Given the description of an element on the screen output the (x, y) to click on. 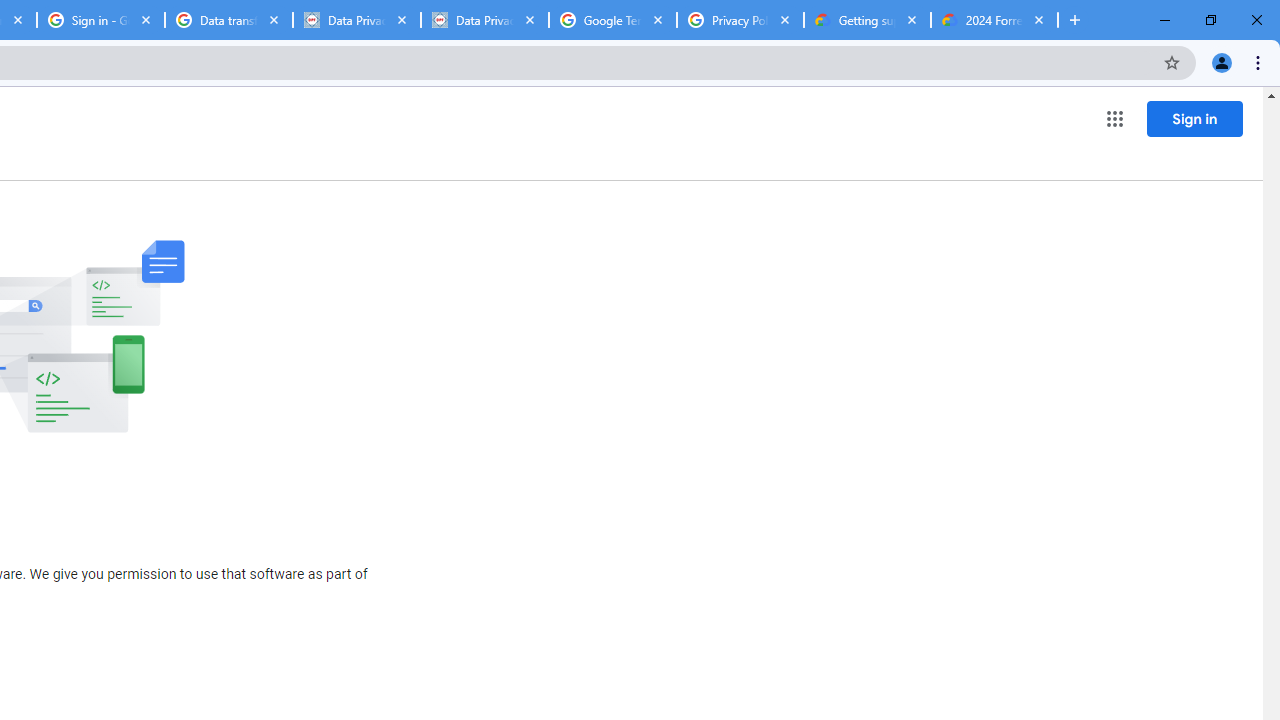
Google apps (1114, 118)
Sign in (1194, 118)
Data Privacy Framework (485, 20)
Data Privacy Framework (357, 20)
